Given the description of an element on the screen output the (x, y) to click on. 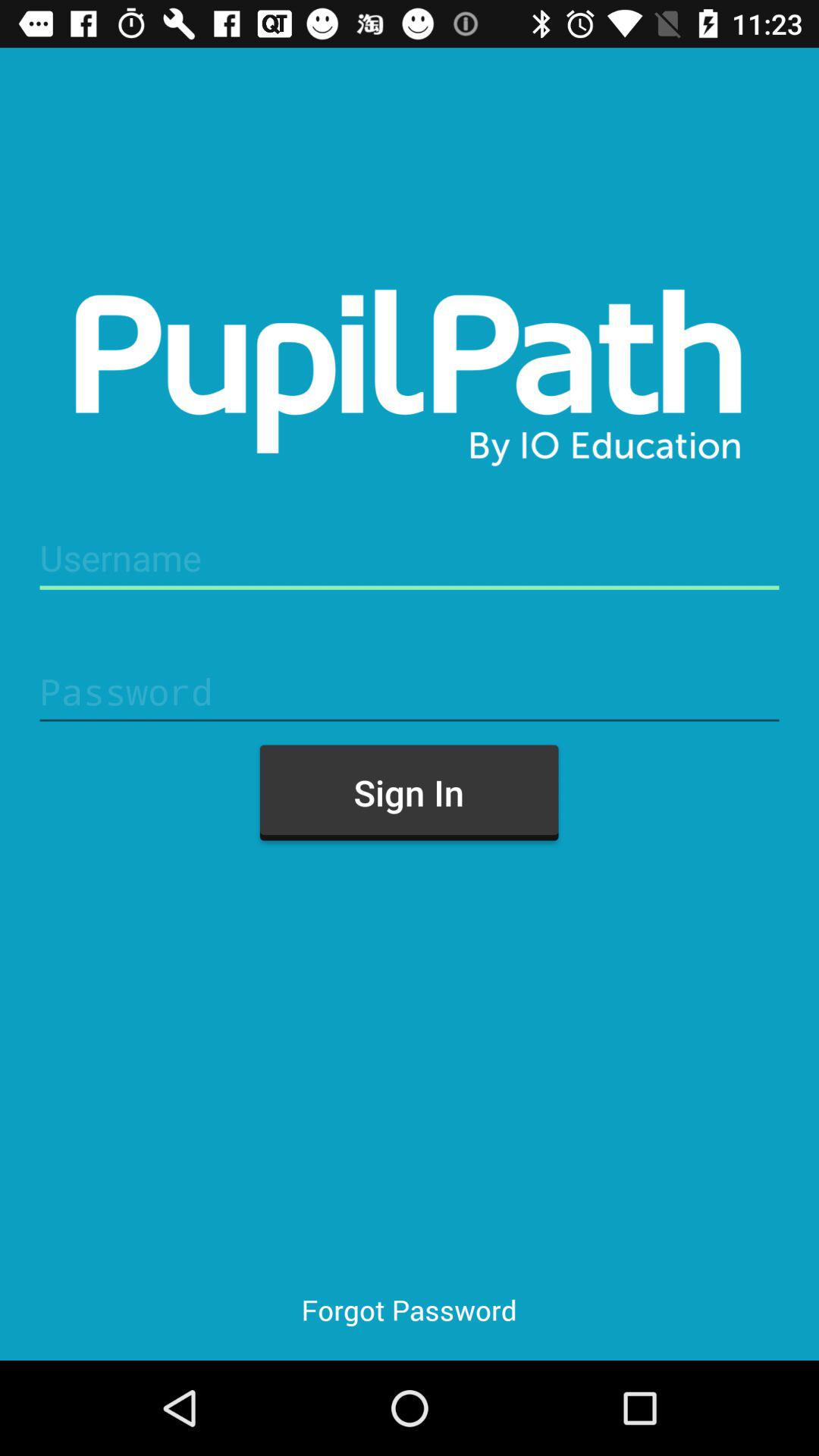
select the item below sign in icon (408, 1309)
